Given the description of an element on the screen output the (x, y) to click on. 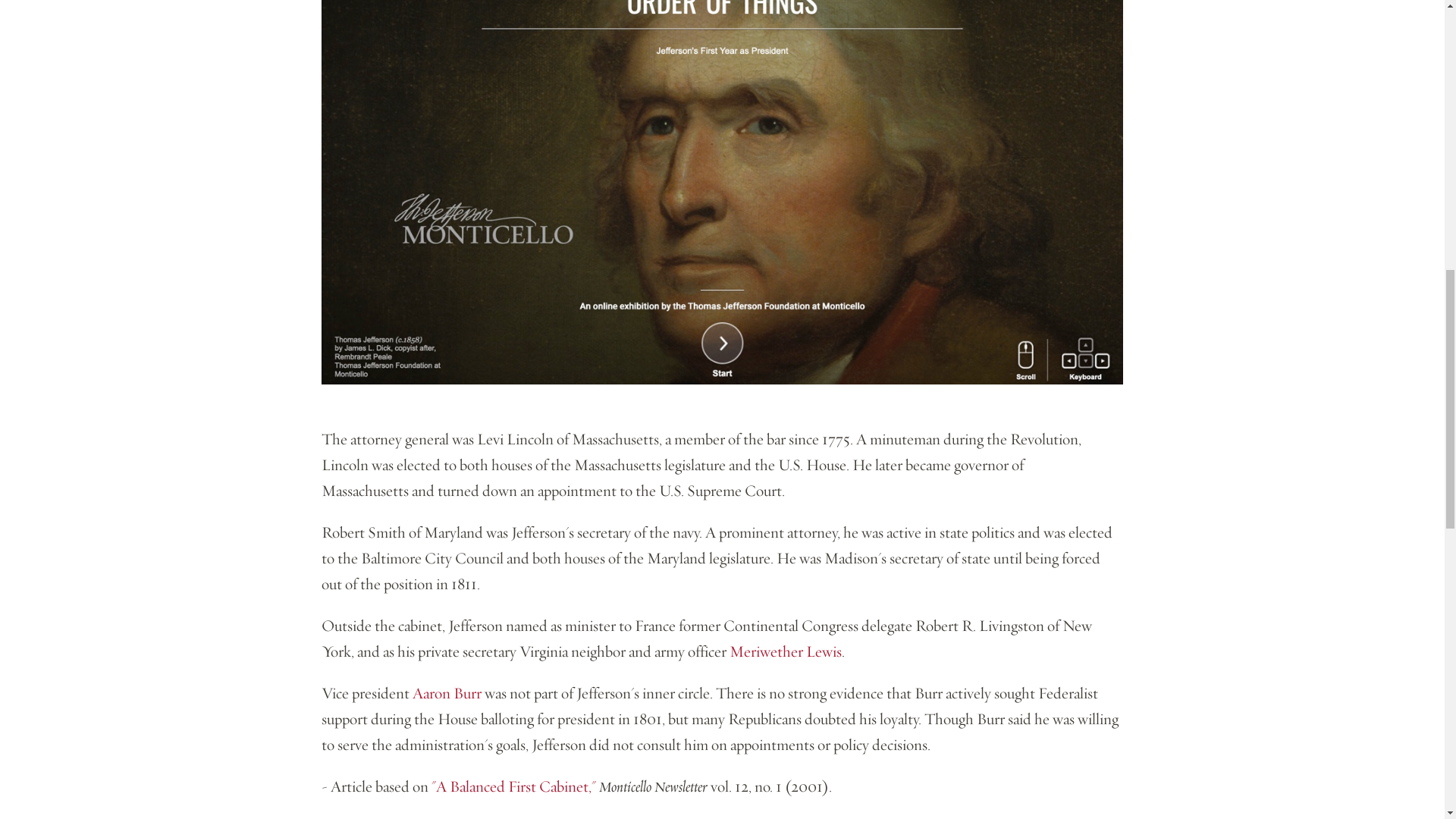
Meriwether Lewis (785, 651)
Aaron Burr (446, 693)
"A Balanced First Cabinet," (512, 786)
